Given the description of an element on the screen output the (x, y) to click on. 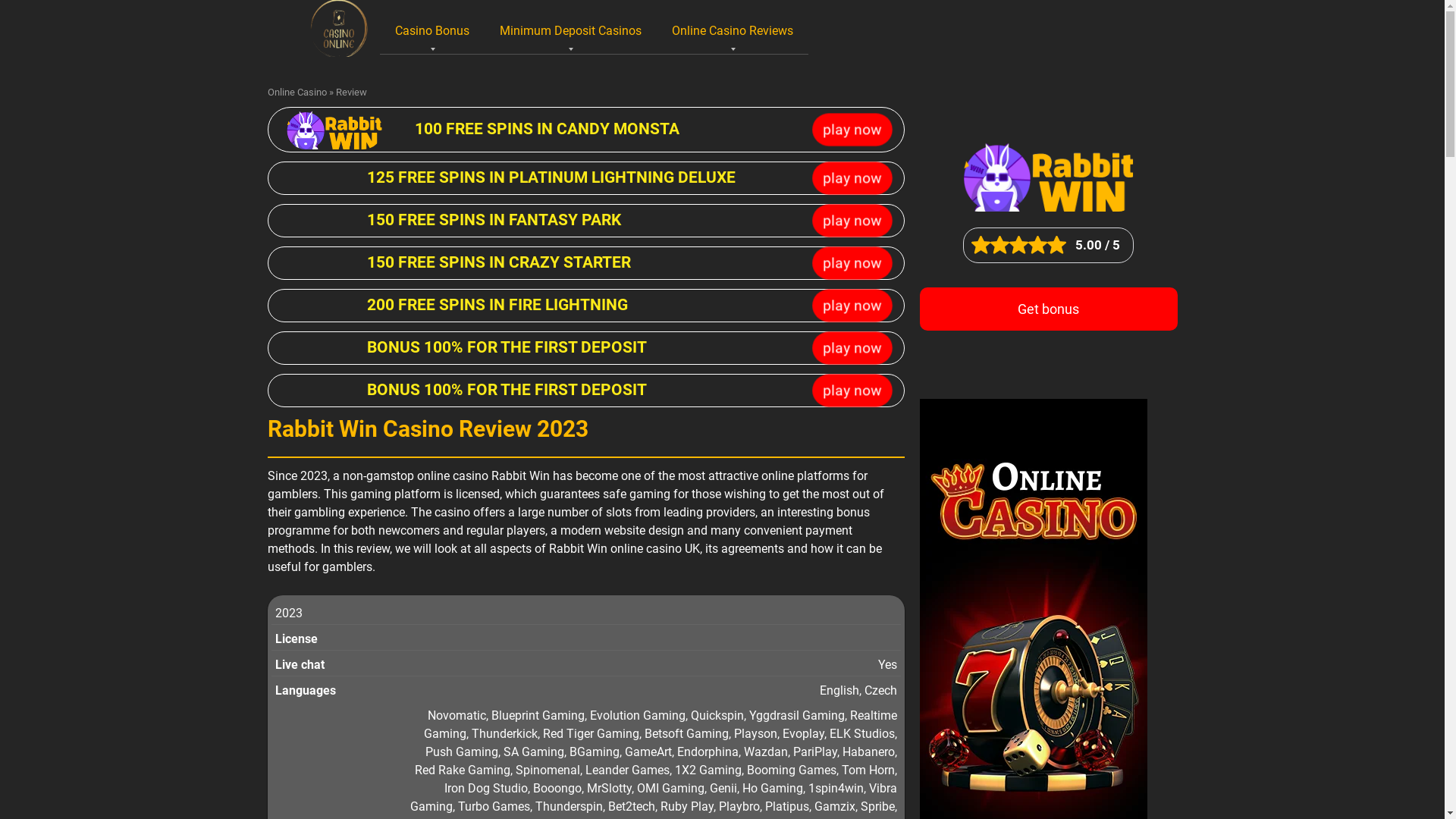
play now Element type: text (845, 387)
Online Casino Reviews Element type: text (732, 30)
2 Stars Element type: hover (999, 244)
play now Element type: text (845, 127)
4 Stars Element type: hover (1037, 244)
5 Stars Element type: hover (1056, 244)
play now Element type: text (845, 344)
3 Stars Element type: hover (1018, 244)
play now Element type: text (845, 260)
Skip to content Element type: text (266, 0)
play now Element type: text (845, 175)
1 Star Element type: hover (980, 244)
Minimum Deposit Casinos Element type: text (570, 30)
Casino Bonus Element type: text (431, 30)
Get bonus Element type: text (1047, 308)
play now Element type: text (845, 218)
play now Element type: text (845, 302)
Review Element type: text (350, 91)
Online Casino Element type: text (296, 91)
